Given the description of an element on the screen output the (x, y) to click on. 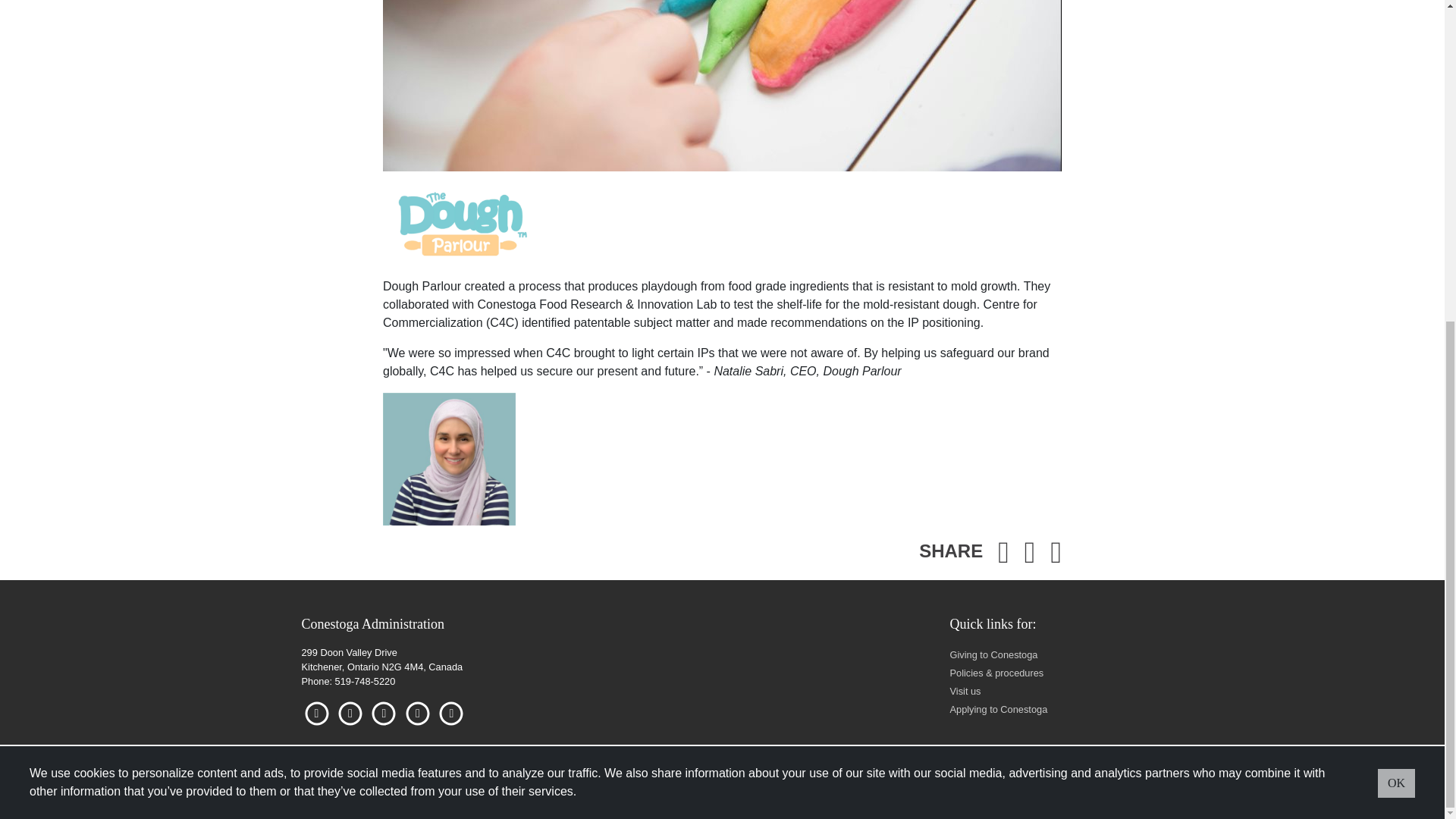
Giving to Conestoga (992, 654)
Playdough in the shape of a rainbow (721, 85)
OK (1396, 261)
